Given the description of an element on the screen output the (x, y) to click on. 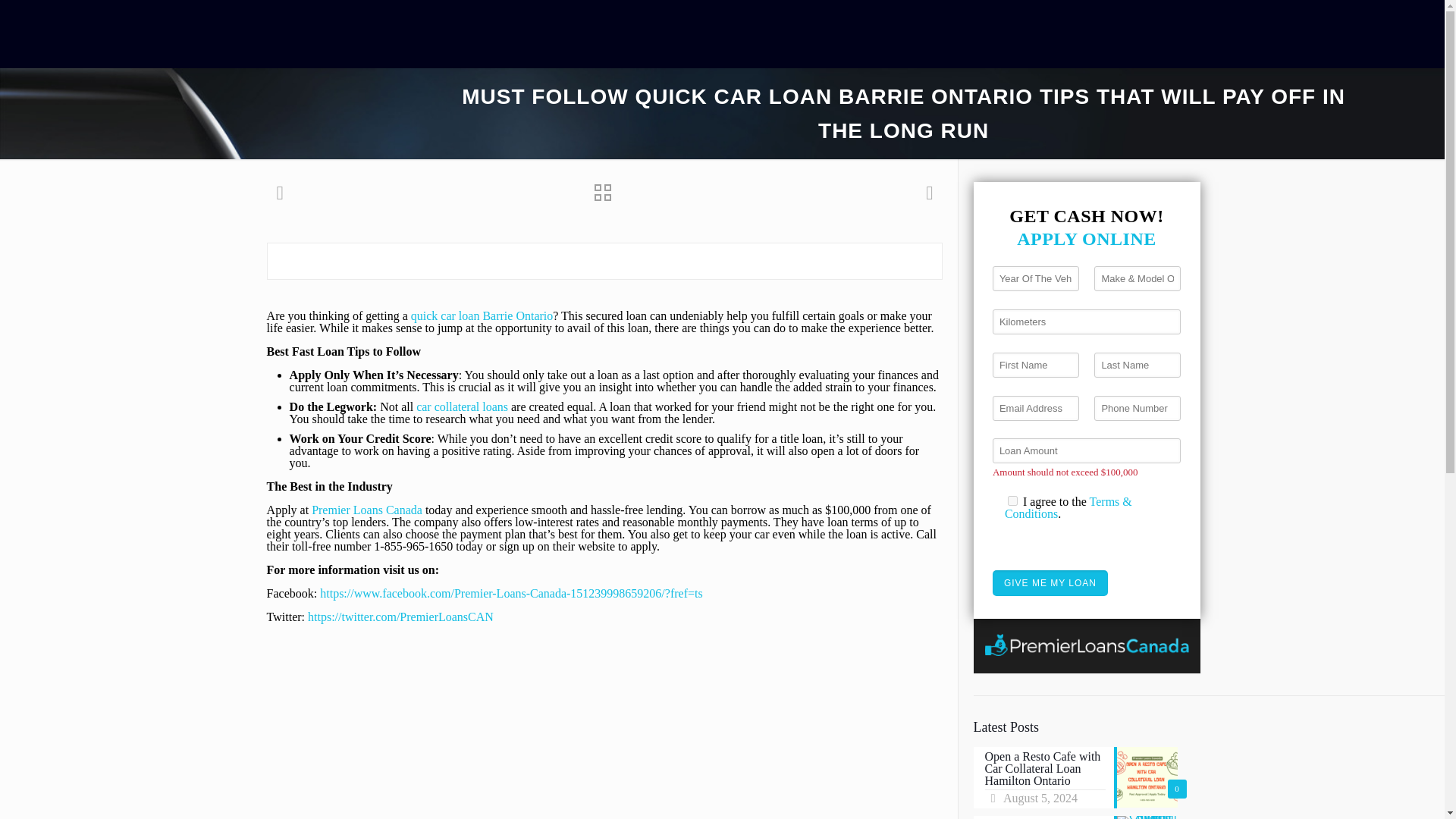
1 (1012, 501)
GIVE ME MY LOAN (1050, 583)
Premier Loans Canada (366, 509)
car collateral loans (462, 406)
quick car loan Barrie Ontario (481, 315)
GIVE ME MY LOAN (1050, 583)
